Given the description of an element on the screen output the (x, y) to click on. 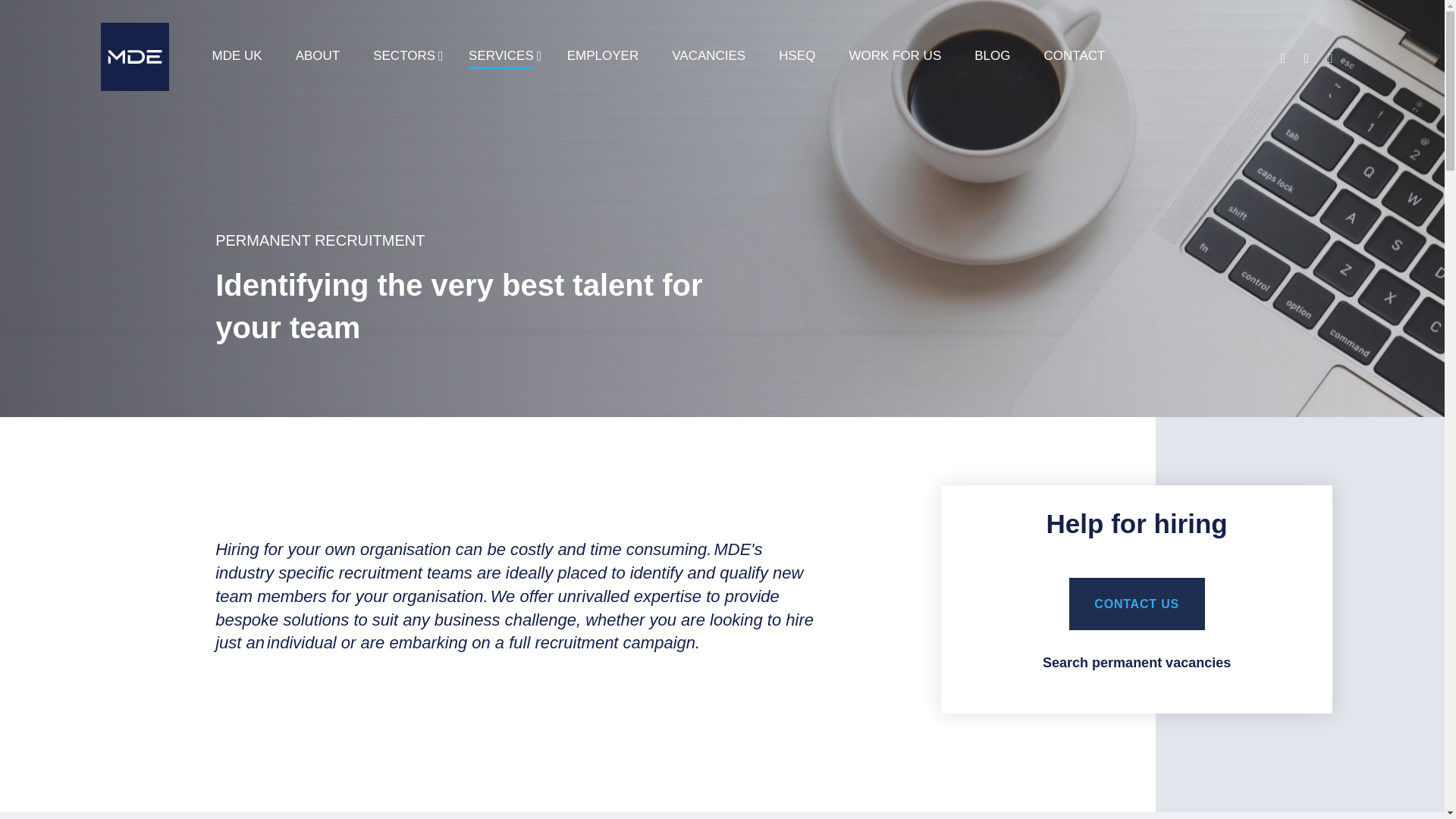
BLOG (992, 58)
HSEQ (796, 58)
EMPLOYER (602, 58)
WORK FOR US (894, 58)
CONTACT US (1136, 603)
Search permanent vacancies (1136, 662)
MDE UK (237, 58)
VACANCIES (708, 58)
SECTORS (403, 58)
ABOUT (317, 58)
CONTACT (1073, 58)
SERVICES (500, 58)
